Given the description of an element on the screen output the (x, y) to click on. 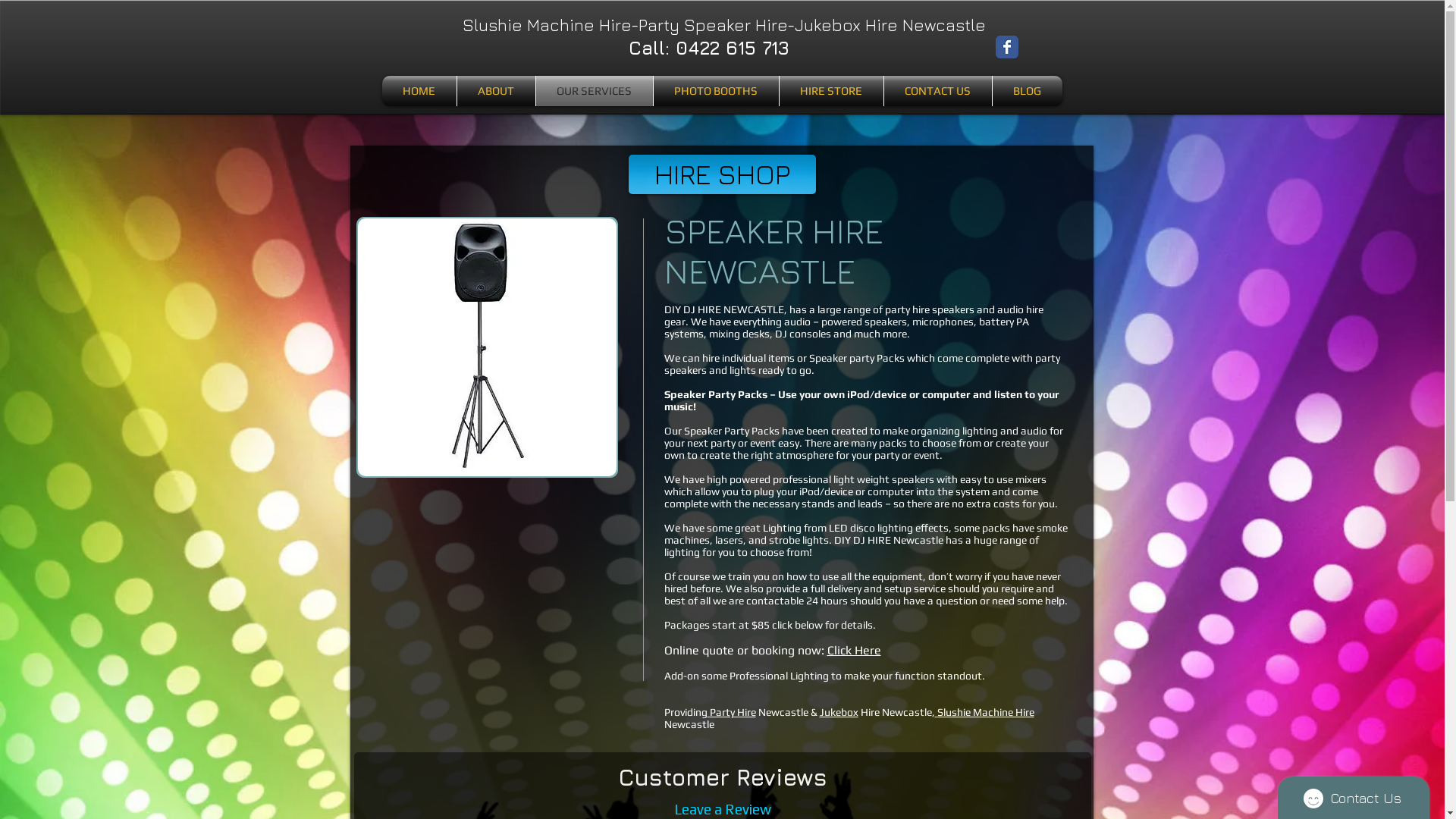
Jukebox Element type: text (838, 712)
CONTACT US Element type: text (937, 90)
HIRE SHOP Element type: text (721, 174)
HOME Element type: text (419, 90)
ABOUT Element type: text (495, 90)
Facebook Like Element type: hover (1051, 49)
Slushie Machine Hire Element type: text (985, 712)
Click Here Element type: text (853, 650)
Party Hire Element type: text (730, 712)
BLOG Element type: text (1026, 90)
PHOTO BOOTHS Element type: text (715, 90)
OUR SERVICES Element type: text (593, 90)
HIRE STORE Element type: text (831, 90)
